Given the description of an element on the screen output the (x, y) to click on. 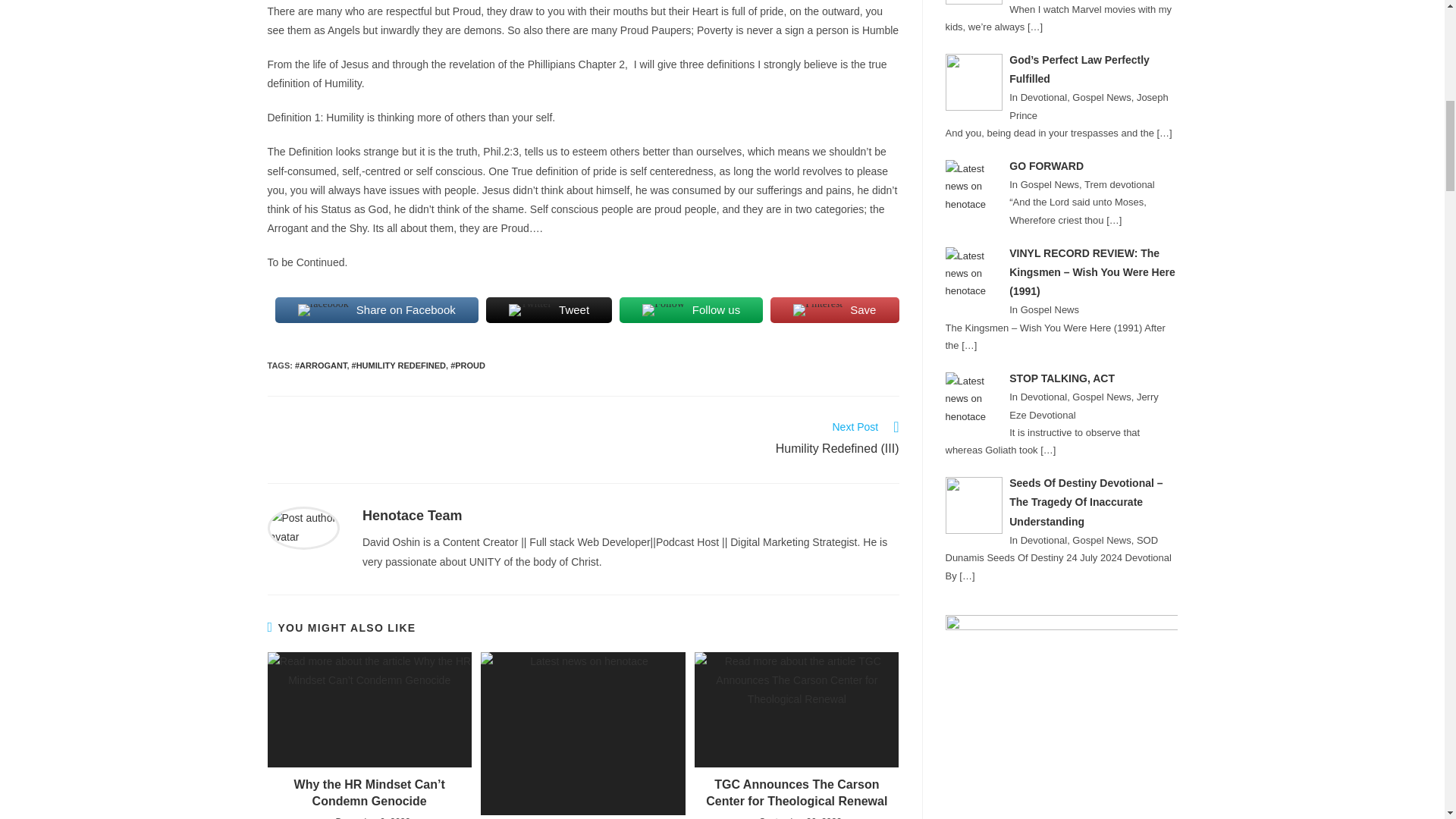
Visit author page (412, 515)
Visit author page (302, 526)
